Given the description of an element on the screen output the (x, y) to click on. 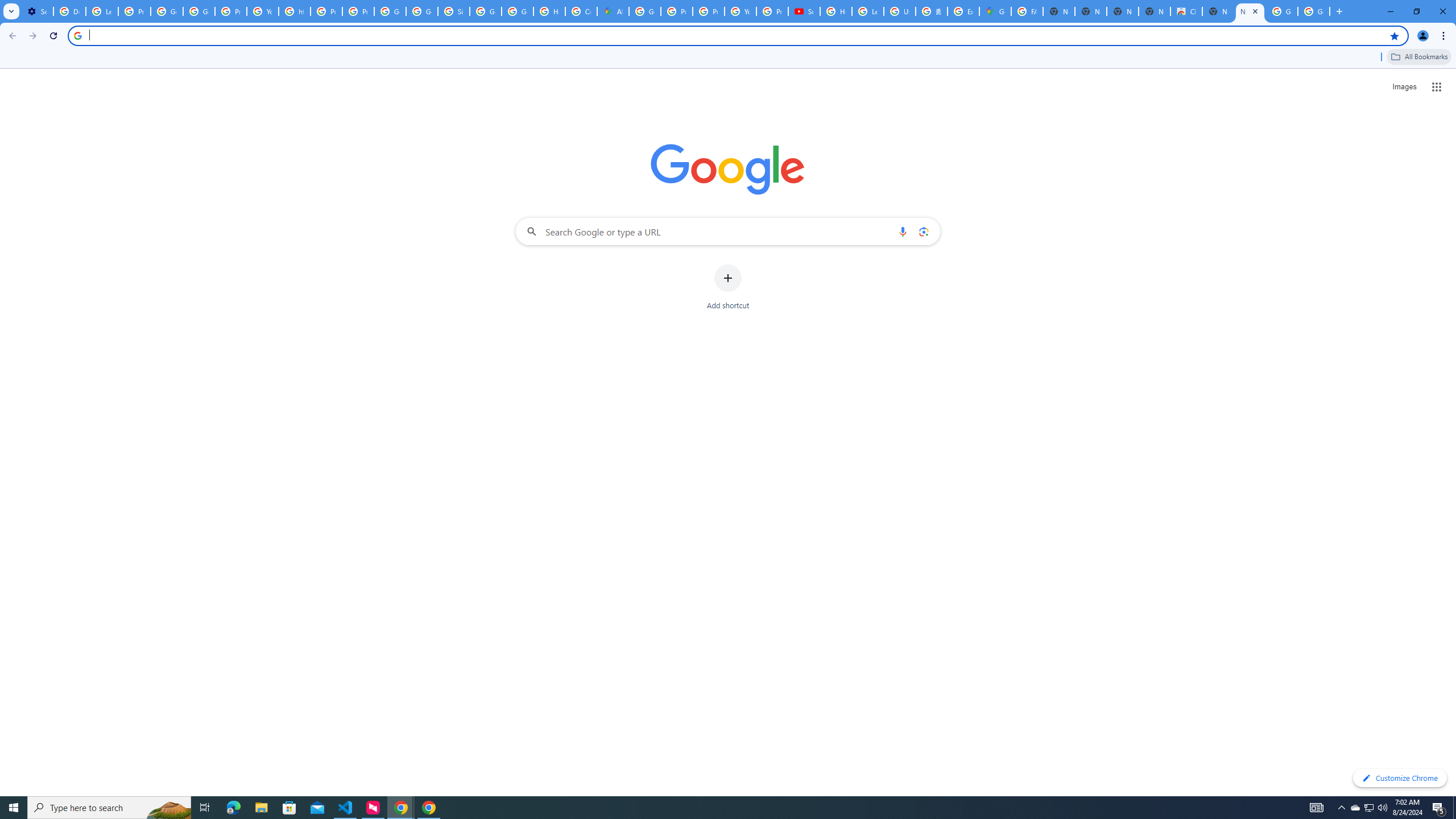
Privacy Help Center - Policies Help (708, 11)
Google Images (1281, 11)
YouTube (740, 11)
Create your Google Account (581, 11)
Sign in - Google Accounts (453, 11)
